Given the description of an element on the screen output the (x, y) to click on. 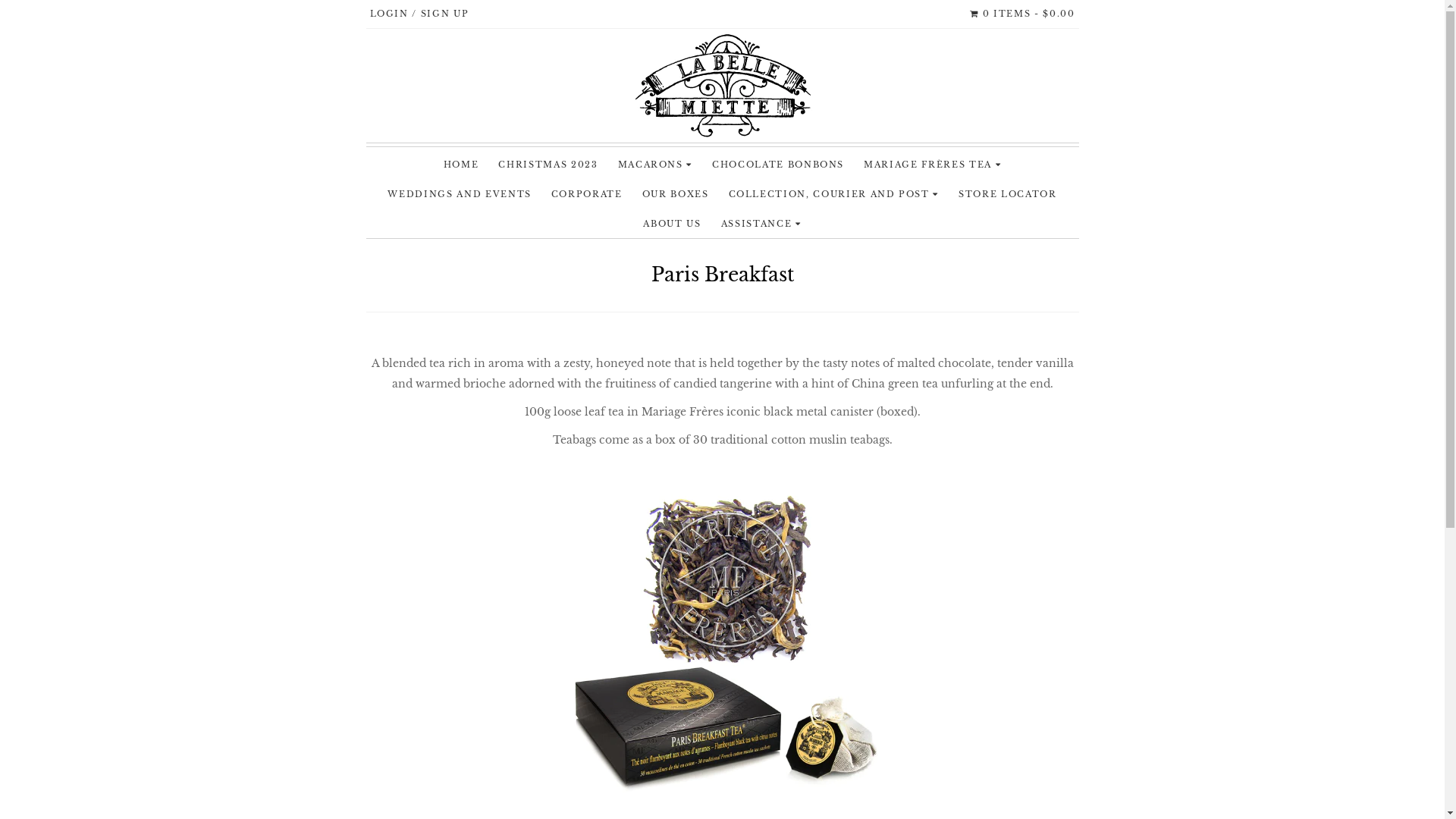
COLLECTION, COURIER AND POST Element type: text (833, 194)
CHOCOLATE BONBONS Element type: text (777, 164)
ASSISTANCE Element type: text (760, 223)
SIGN UP Element type: text (444, 13)
WEDDINGS AND EVENTS Element type: text (459, 194)
STORE LOCATOR Element type: text (1007, 194)
ABOUT US Element type: text (671, 223)
OUR BOXES Element type: text (675, 194)
0 ITEMS - $0.00 Element type: text (1021, 13)
CORPORATE Element type: text (586, 194)
MACARONS Element type: text (655, 164)
CHRISTMAS 2023 Element type: text (547, 164)
HOME Element type: text (461, 164)
LOGIN Element type: text (395, 13)
